Given the description of an element on the screen output the (x, y) to click on. 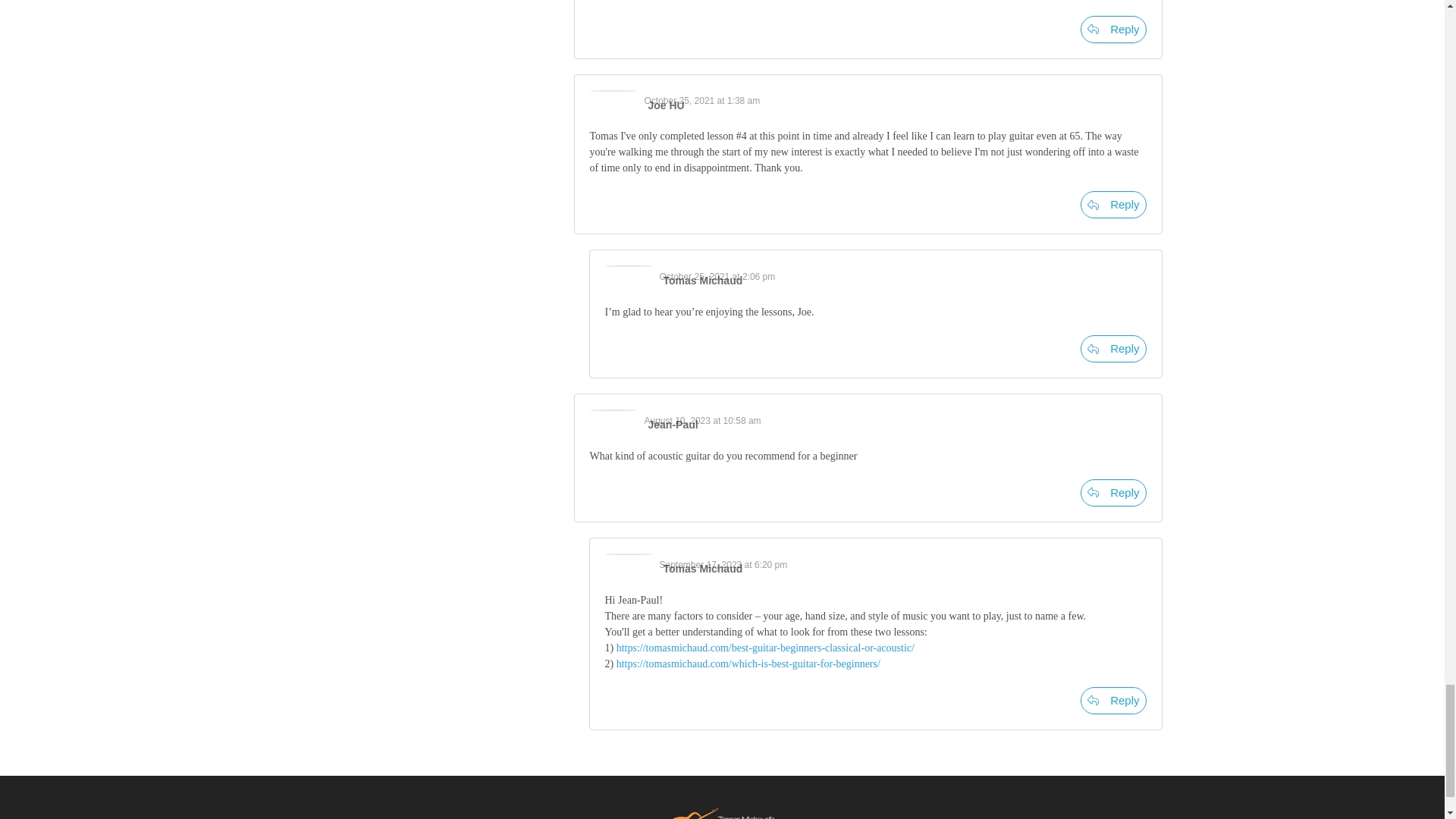
October 25, 2021 at 1:38 am (702, 100)
Reply (1112, 29)
Reply (1112, 204)
October 25, 2021 at 2:06 pm (717, 276)
